Given the description of an element on the screen output the (x, y) to click on. 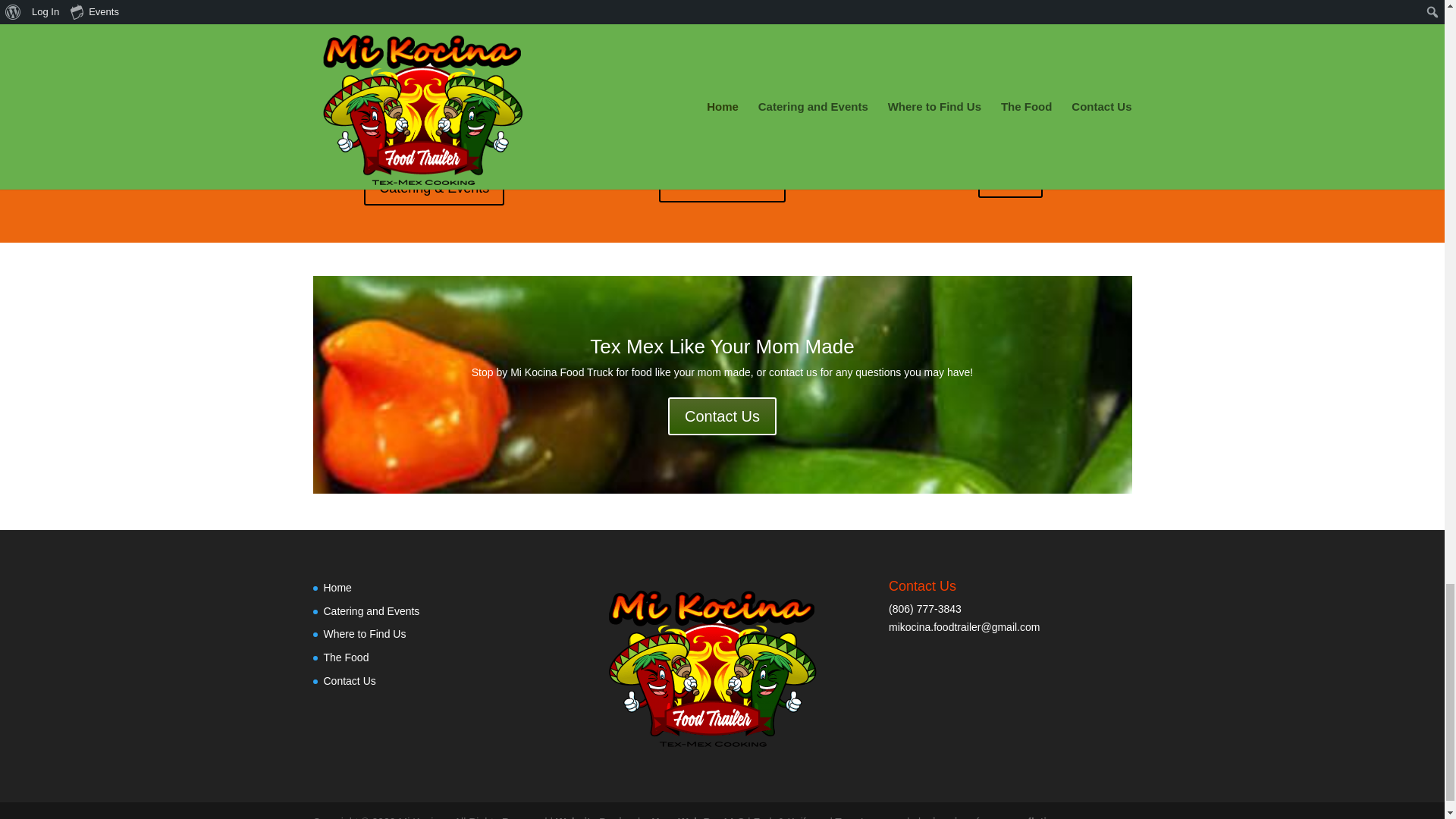
Menu (1010, 180)
Catering and Events (371, 611)
Home (336, 587)
Where Are We? (722, 184)
Contact Us (722, 415)
